Given the description of an element on the screen output the (x, y) to click on. 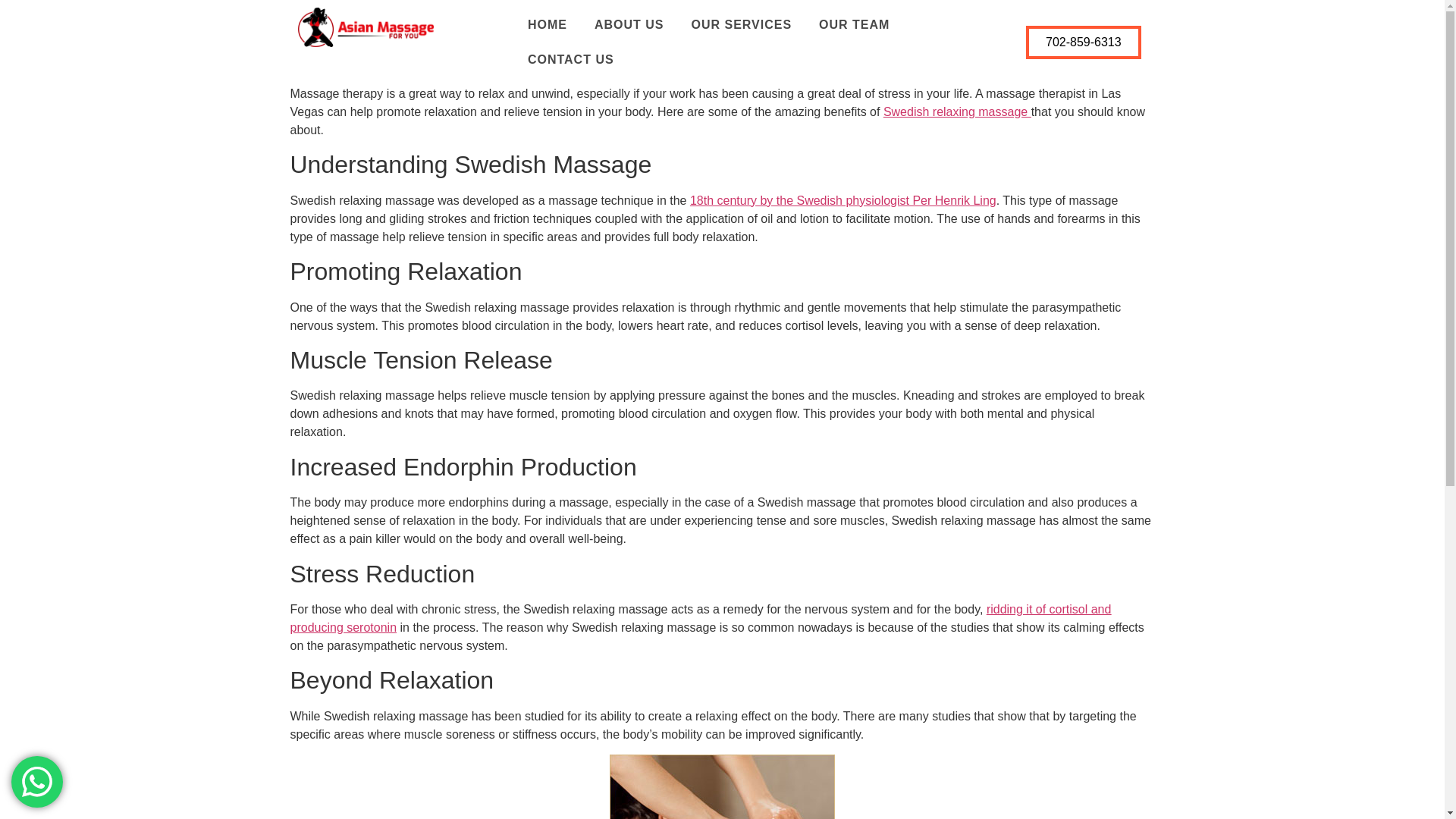
OUR TEAM (853, 24)
ABOUT US (629, 24)
WhatsApp us (36, 781)
HOME (546, 24)
CONTACT US (570, 59)
OUR SERVICES (741, 24)
